Given the description of an element on the screen output the (x, y) to click on. 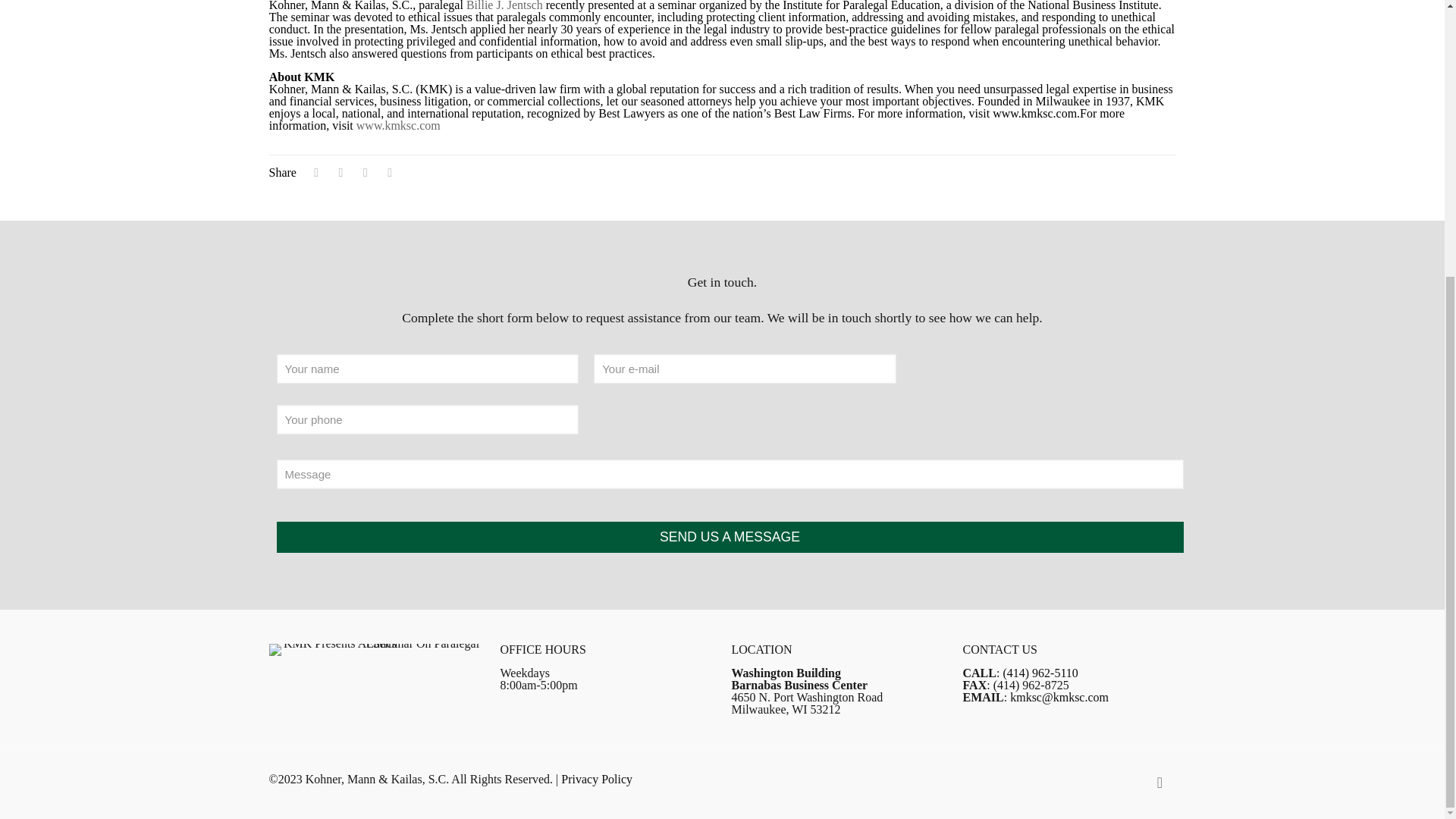
www.kmksc.com (398, 124)
Privacy Policy (595, 779)
Billie J. Jentsch (504, 5)
SEND US A MESSAGE (729, 536)
SEND US A MESSAGE (729, 536)
